Given the description of an element on the screen output the (x, y) to click on. 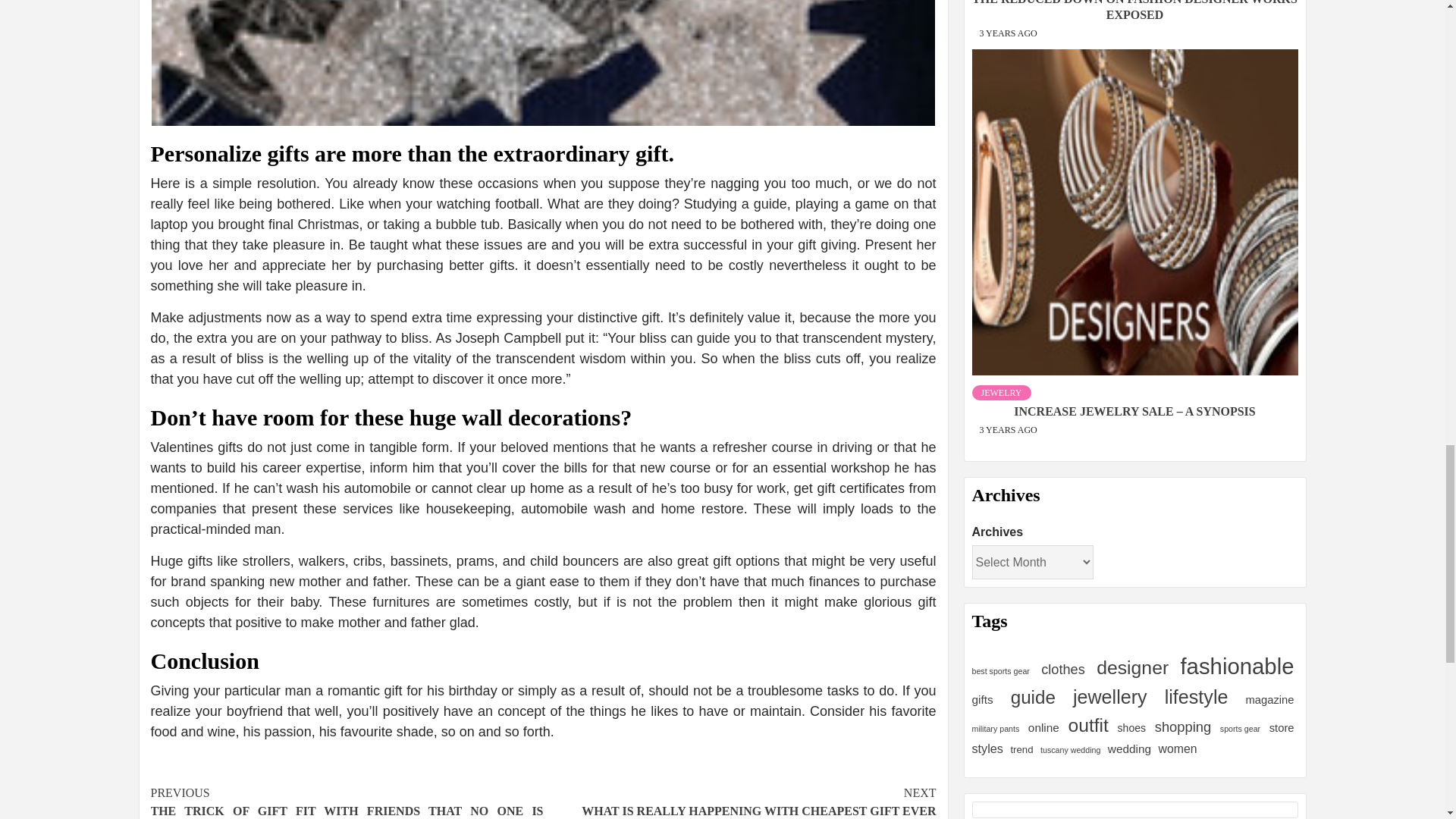
The Reduced Down on Choose Fit Gift Revealed 2 (542, 63)
